Given the description of an element on the screen output the (x, y) to click on. 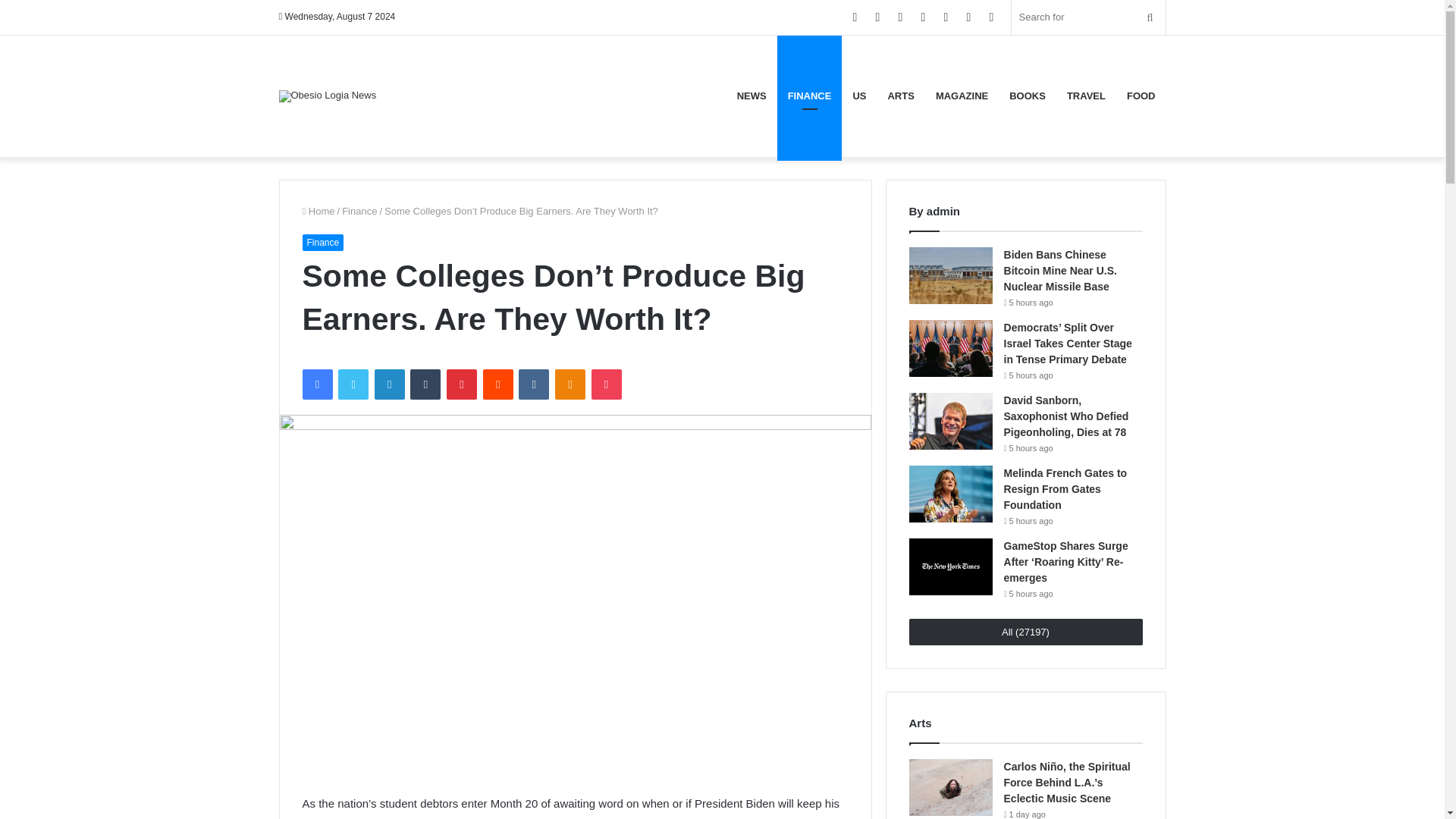
Twitter (352, 384)
LinkedIn (389, 384)
Pocket (606, 384)
Tumblr (425, 384)
Facebook (316, 384)
Search for (1088, 17)
Tumblr (425, 384)
Odnoklassniki (569, 384)
Twitter (352, 384)
Home (317, 210)
LinkedIn (389, 384)
Odnoklassniki (569, 384)
Finance (359, 210)
Finance (322, 241)
VKontakte (533, 384)
